Given the description of an element on the screen output the (x, y) to click on. 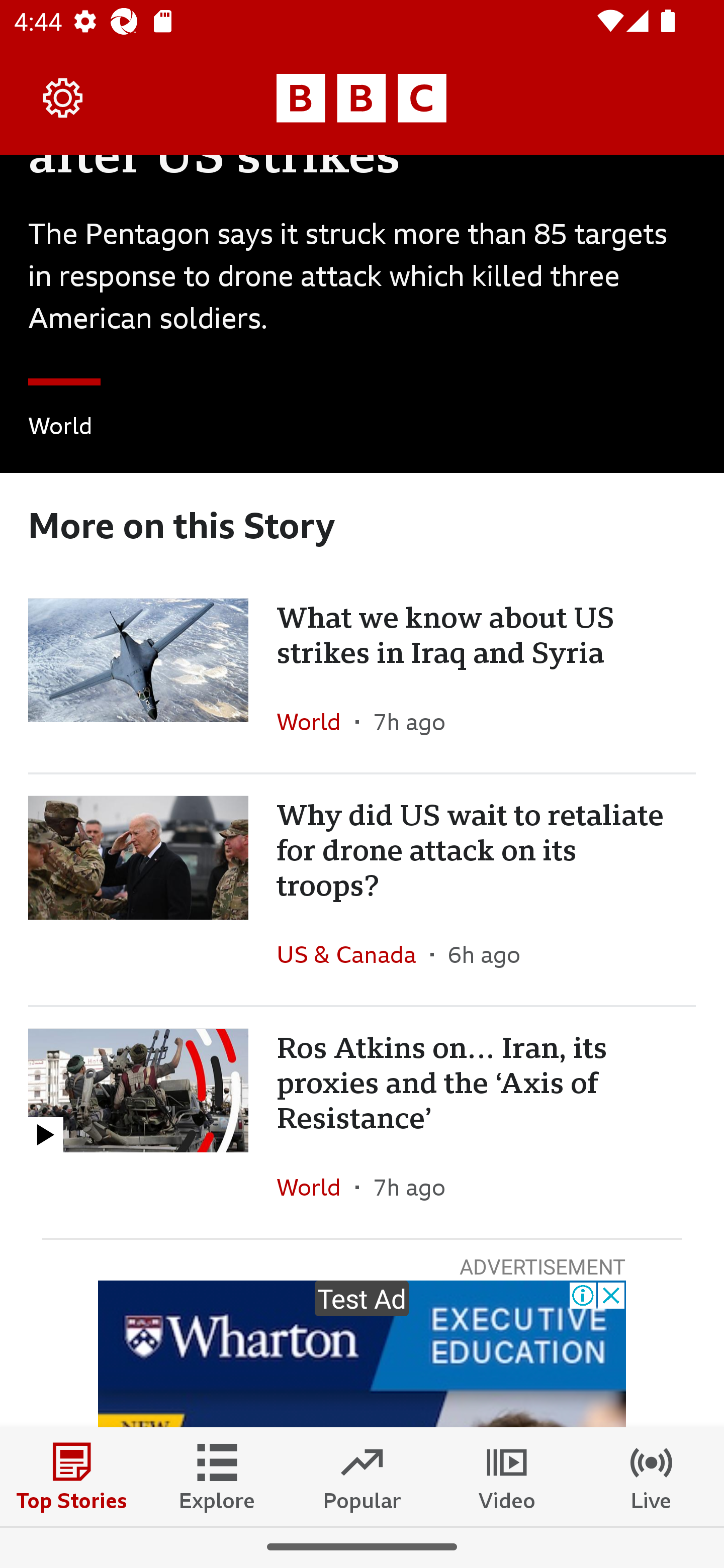
Settings (63, 97)
World In the section World (60, 429)
World In the section World (315, 722)
US & Canada In the section US & Canada (353, 954)
World In the section World (315, 1186)
Explore (216, 1475)
Popular (361, 1475)
Video (506, 1475)
Live (651, 1475)
